Given the description of an element on the screen output the (x, y) to click on. 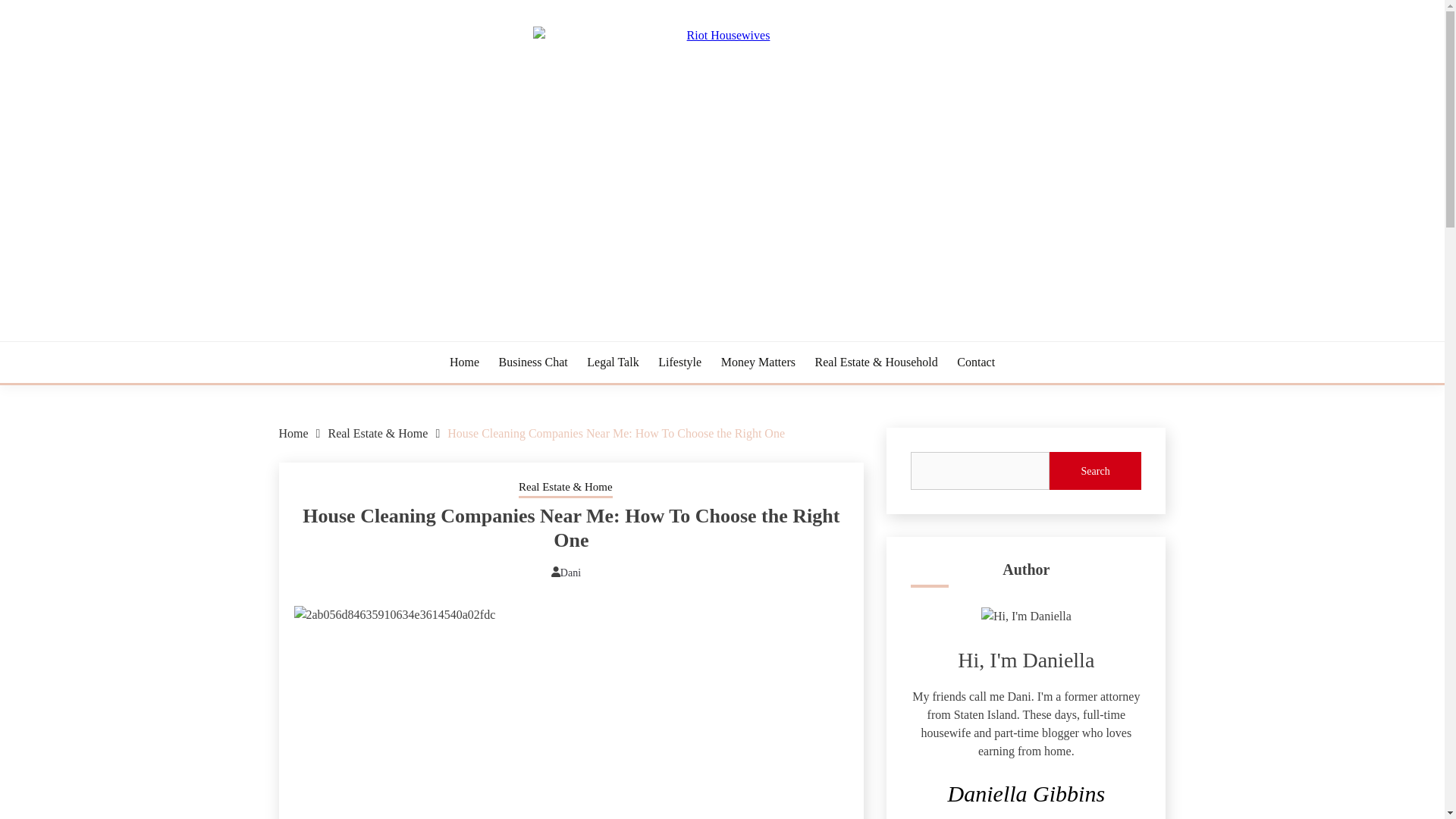
Search (1095, 470)
Lifestyle (679, 361)
RIOT HOUSEWIVES (411, 338)
Money Matters (757, 361)
Legal Talk (612, 361)
Dani (570, 572)
Home (293, 432)
Home (464, 361)
Contact (975, 361)
Business Chat (533, 361)
